Given the description of an element on the screen output the (x, y) to click on. 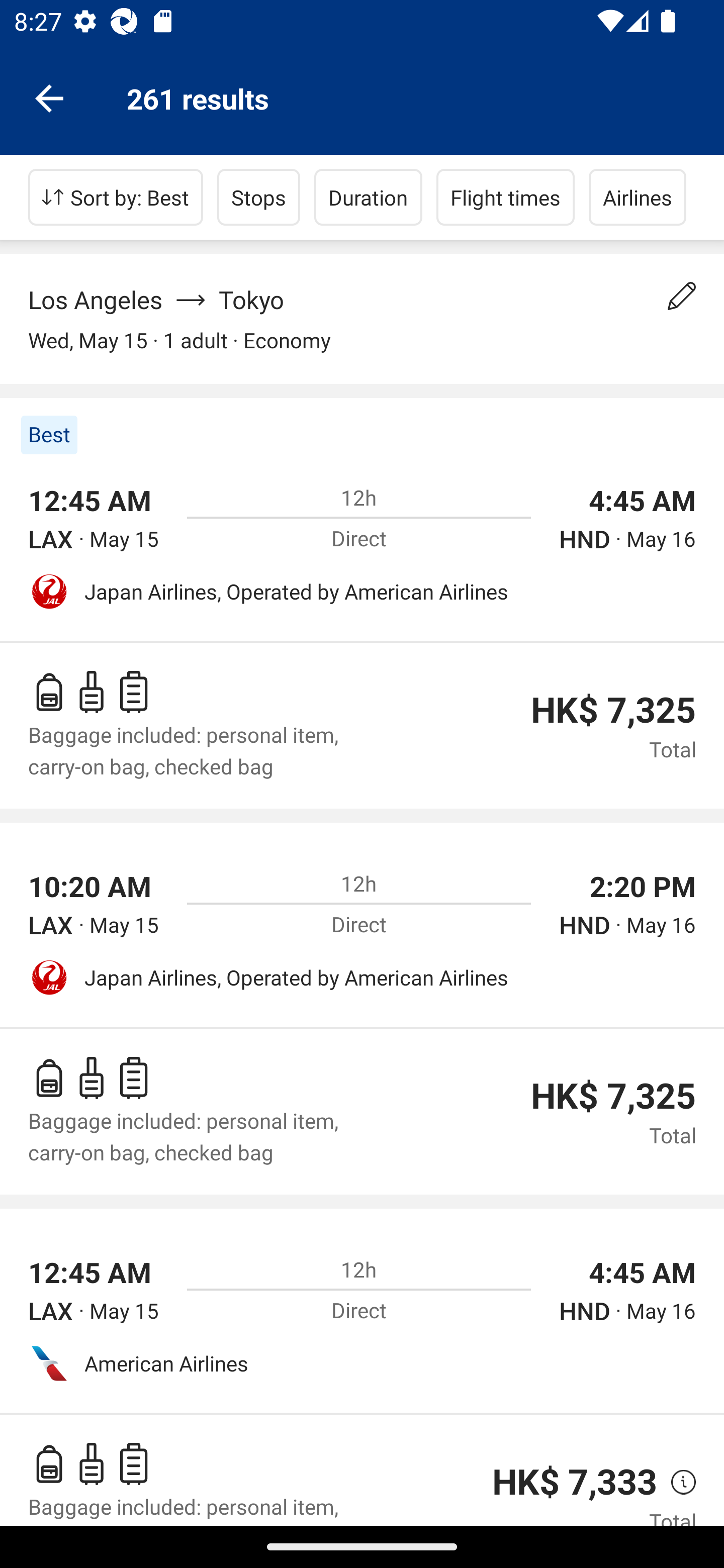
Navigate up (49, 97)
Sort by: Best (115, 197)
Stops (258, 197)
Duration (368, 197)
Flight times (505, 197)
Airlines (637, 197)
Change your search details (681, 296)
HK$ 7,325 (612, 710)
HK$ 7,325 (612, 1095)
HK$ 7,333 (574, 1481)
view price details, opens a pop-up (676, 1482)
